Given the description of an element on the screen output the (x, y) to click on. 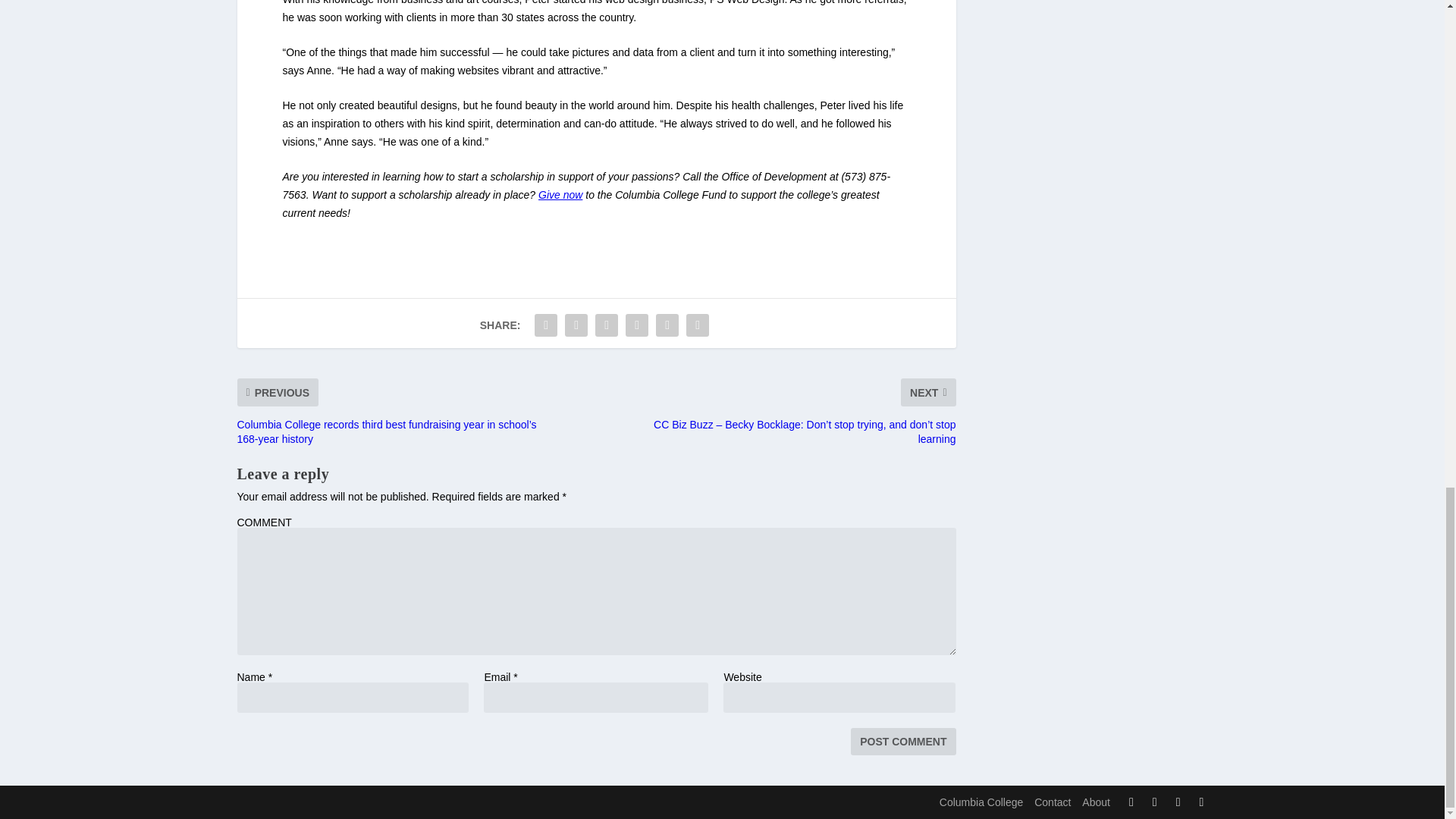
Share "A gift to others" via Facebook (545, 325)
Share "A gift to others" via Print (697, 325)
Share "A gift to others" via Twitter (575, 325)
Post Comment (902, 741)
Share "A gift to others" via Email (667, 325)
Share "A gift to others" via LinkedIn (636, 325)
Share "A gift to others" via Pinterest (606, 325)
